Given the description of an element on the screen output the (x, y) to click on. 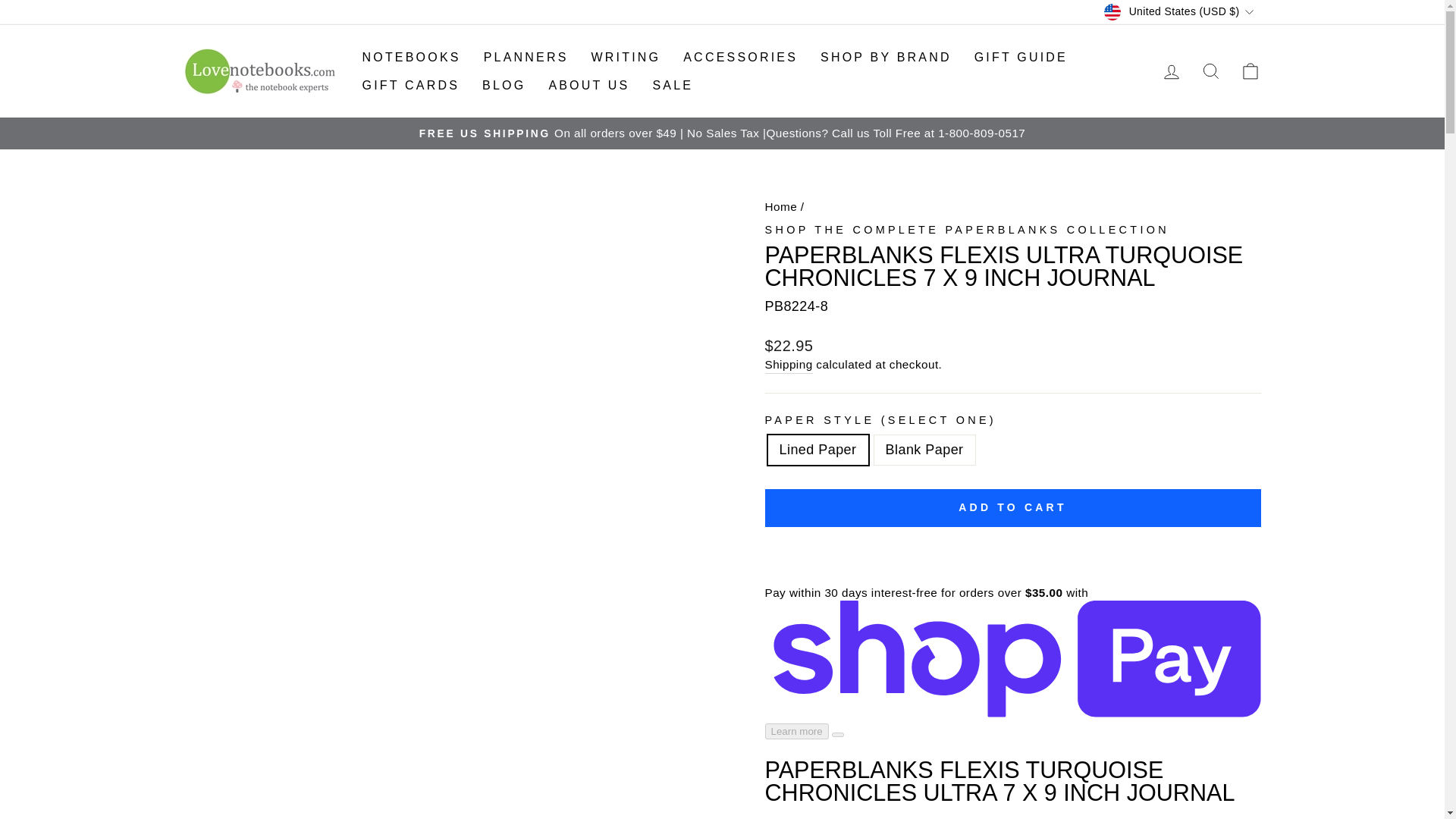
Back to the frontpage (780, 205)
